Given the description of an element on the screen output the (x, y) to click on. 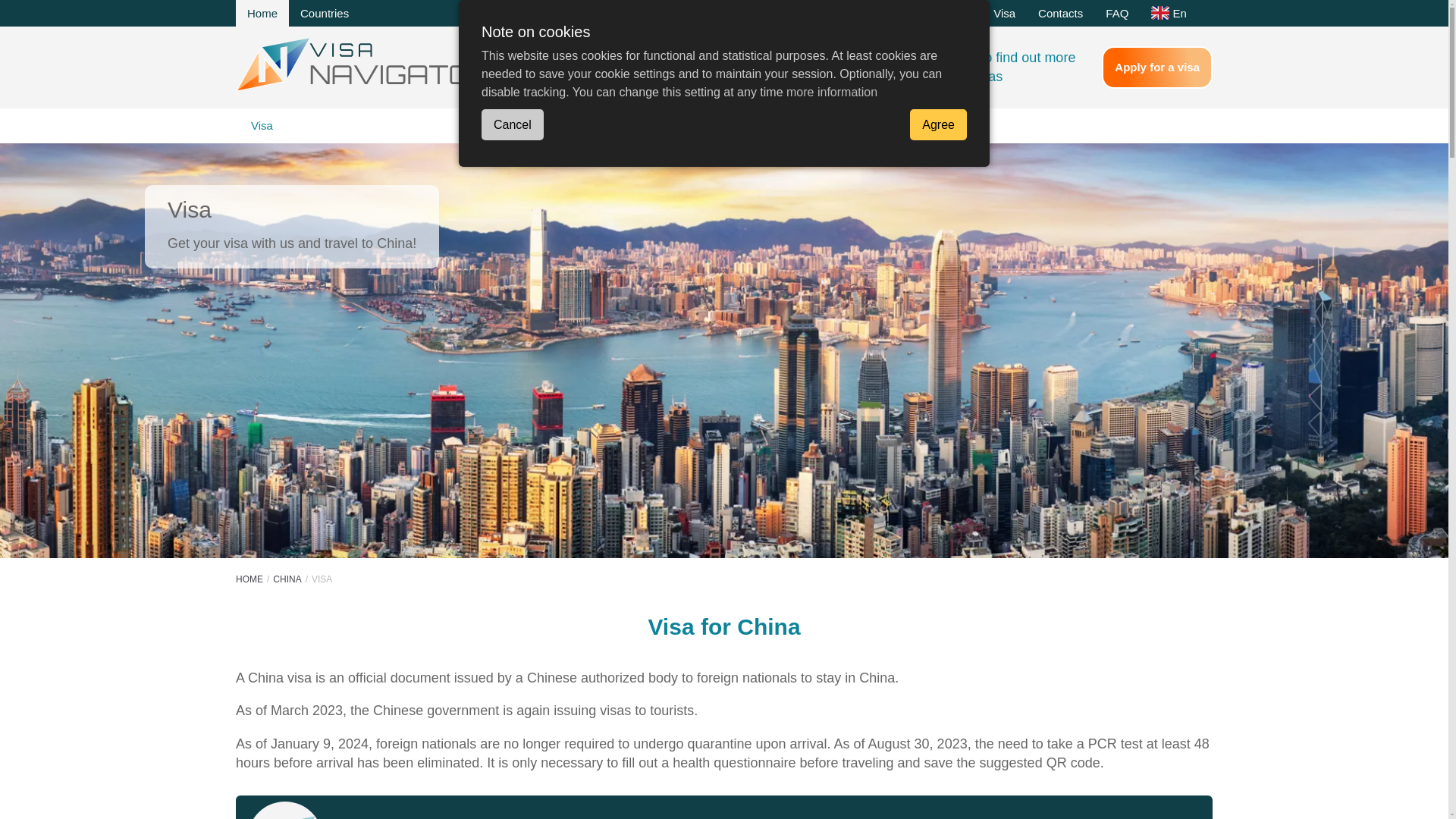
FAQ (1117, 13)
Home (261, 13)
Visa Navigator Whatsapp (898, 64)
Apply for a visa (1157, 66)
News (911, 13)
Visa (1003, 13)
China (287, 579)
Contacts (1060, 13)
Blog (958, 13)
Text us to find out more about visas (1011, 67)
Home (249, 579)
Visa Navigator (362, 64)
